Given the description of an element on the screen output the (x, y) to click on. 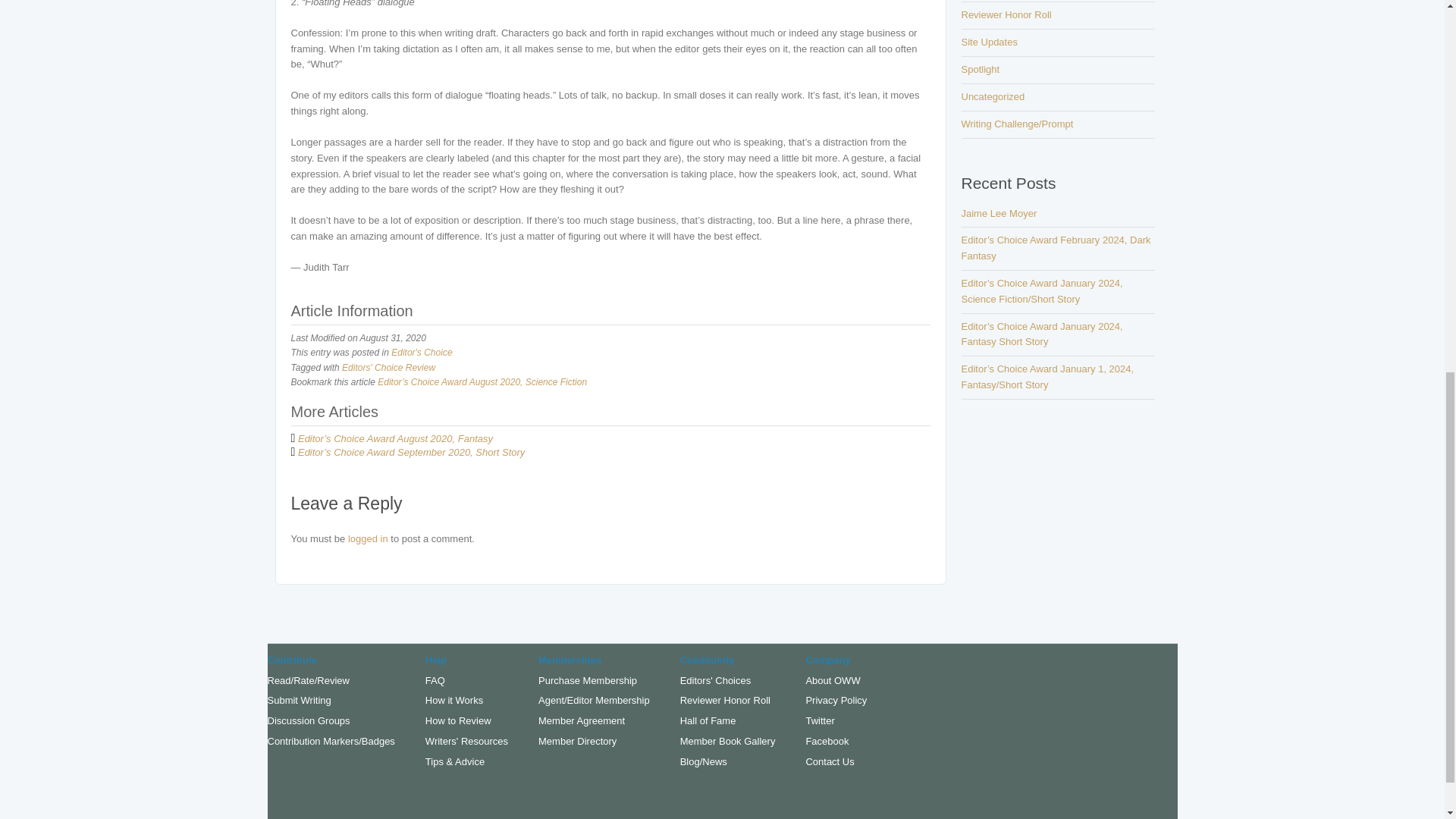
Online Writing Workshop Frequently Asked Questions (435, 680)
Editor's Choice (421, 352)
Uncategorized (992, 96)
Online Writing Workshop How it Works (454, 699)
Reviewer Honor Roll (1005, 14)
logged in (367, 538)
Review writing from others (307, 680)
Online Writing Workshop discussion groups (307, 720)
Jaime Lee Moyer (998, 213)
Editors' Choice Review (388, 367)
Site Updates (988, 41)
Spotlight (980, 69)
Your writing for review (298, 699)
Celebrate individual member efforts (330, 740)
